Given the description of an element on the screen output the (x, y) to click on. 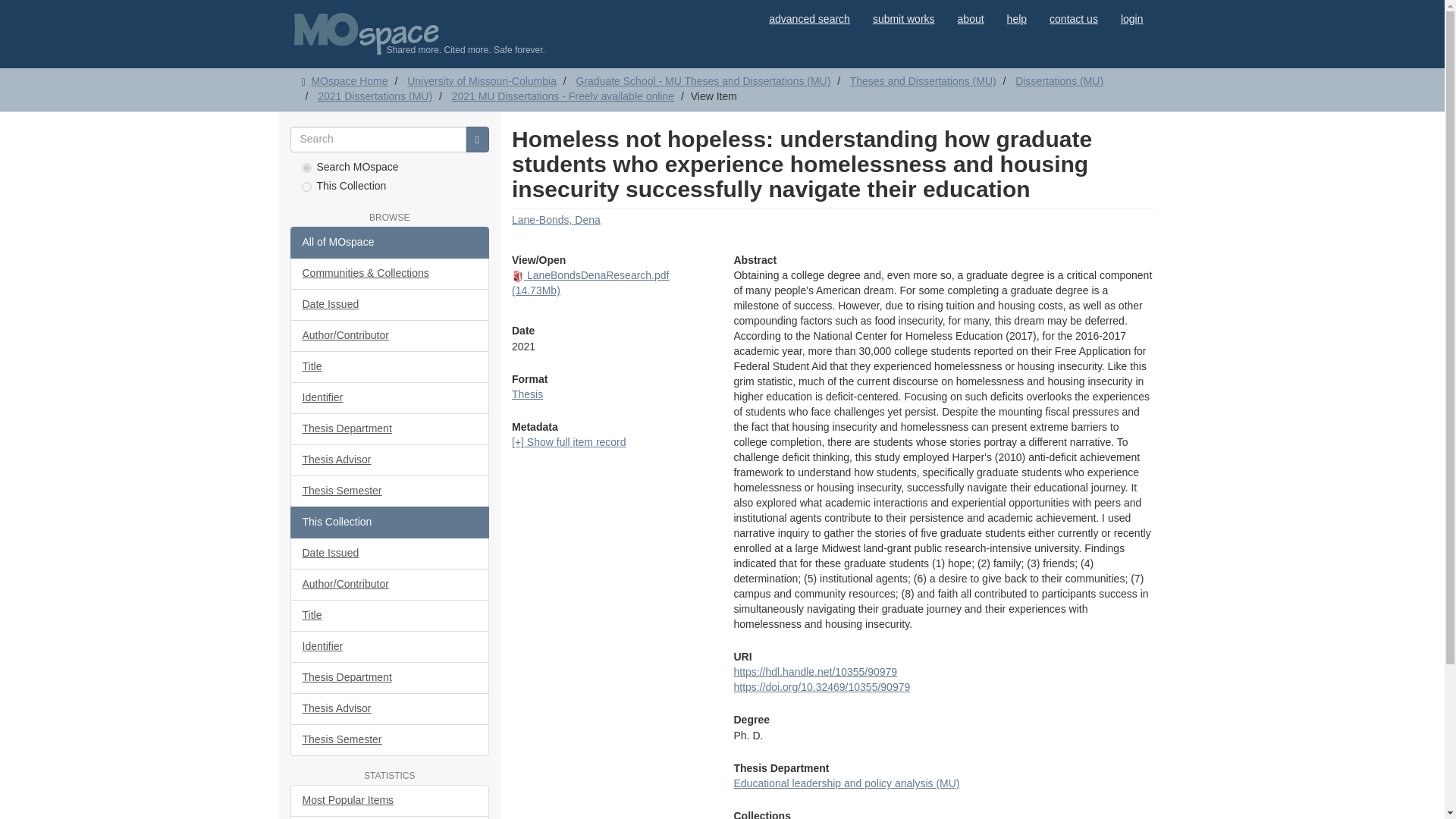
Identifier (389, 398)
2021 MU Dissertations - Freely available online (562, 96)
advanced search (809, 18)
Title (389, 367)
Search (477, 139)
University of Missouri-Columbia (481, 80)
Date Issued (389, 305)
Thesis Department (389, 429)
login (1131, 18)
All of MOspace (389, 242)
submit works (903, 18)
help (1016, 18)
PDF file (518, 276)
Thesis Advisor (389, 459)
contact us (1073, 18)
